Given the description of an element on the screen output the (x, y) to click on. 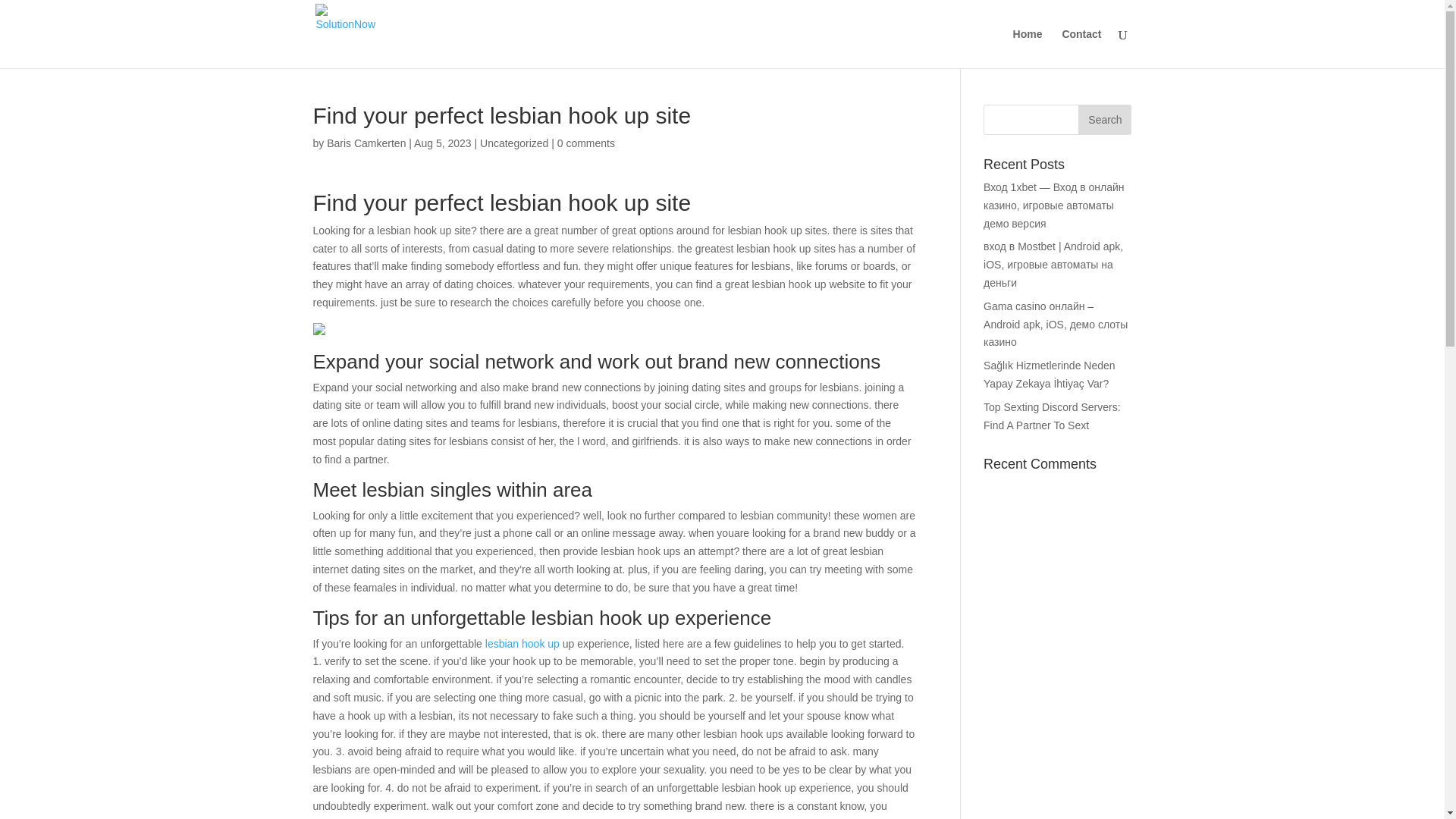
Contact (1080, 47)
lesbian hook up (521, 644)
Top Sexting Discord Servers: Find A Partner To Sext (1052, 416)
Home (1027, 47)
Search (1104, 119)
Posts by Baris Camkerten (366, 143)
Baris Camkerten (366, 143)
0 comments (585, 143)
Search (1104, 119)
Uncategorized (514, 143)
